Given the description of an element on the screen output the (x, y) to click on. 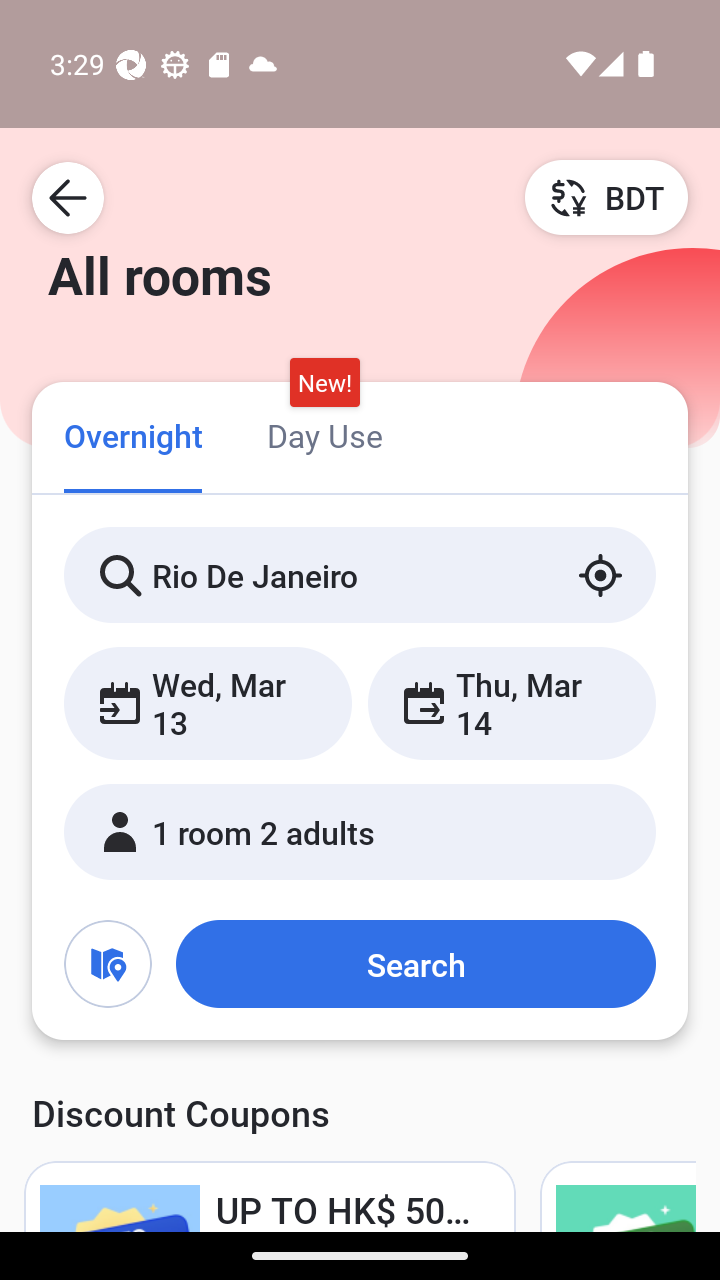
BDT (606, 197)
New! (324, 383)
Day Use (324, 434)
Rio De Janeiro (359, 575)
Wed, Mar 13 (208, 703)
Thu, Mar 14 (511, 703)
1 room 2 adults (359, 831)
Search (415, 964)
